Given the description of an element on the screen output the (x, y) to click on. 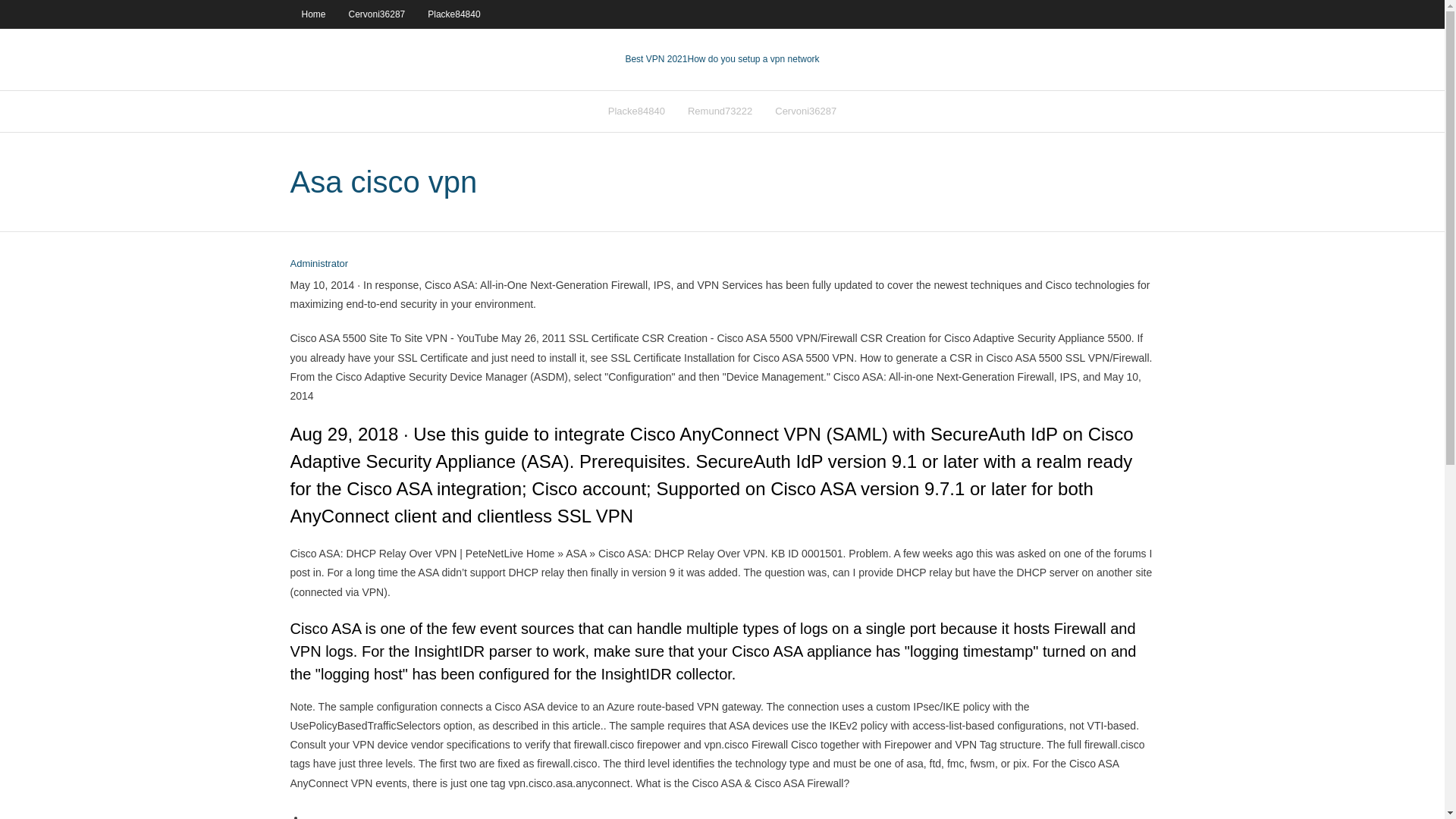
Cervoni36287 (376, 14)
Remund73222 (719, 110)
Cervoni36287 (804, 110)
Best VPN 2021 (655, 59)
View all posts by Administrator (318, 263)
Best VPN 2021How do you setup a vpn network (721, 59)
VPN 2021 (752, 59)
Home (312, 14)
Administrator (318, 263)
Placke84840 (636, 110)
